Given the description of an element on the screen output the (x, y) to click on. 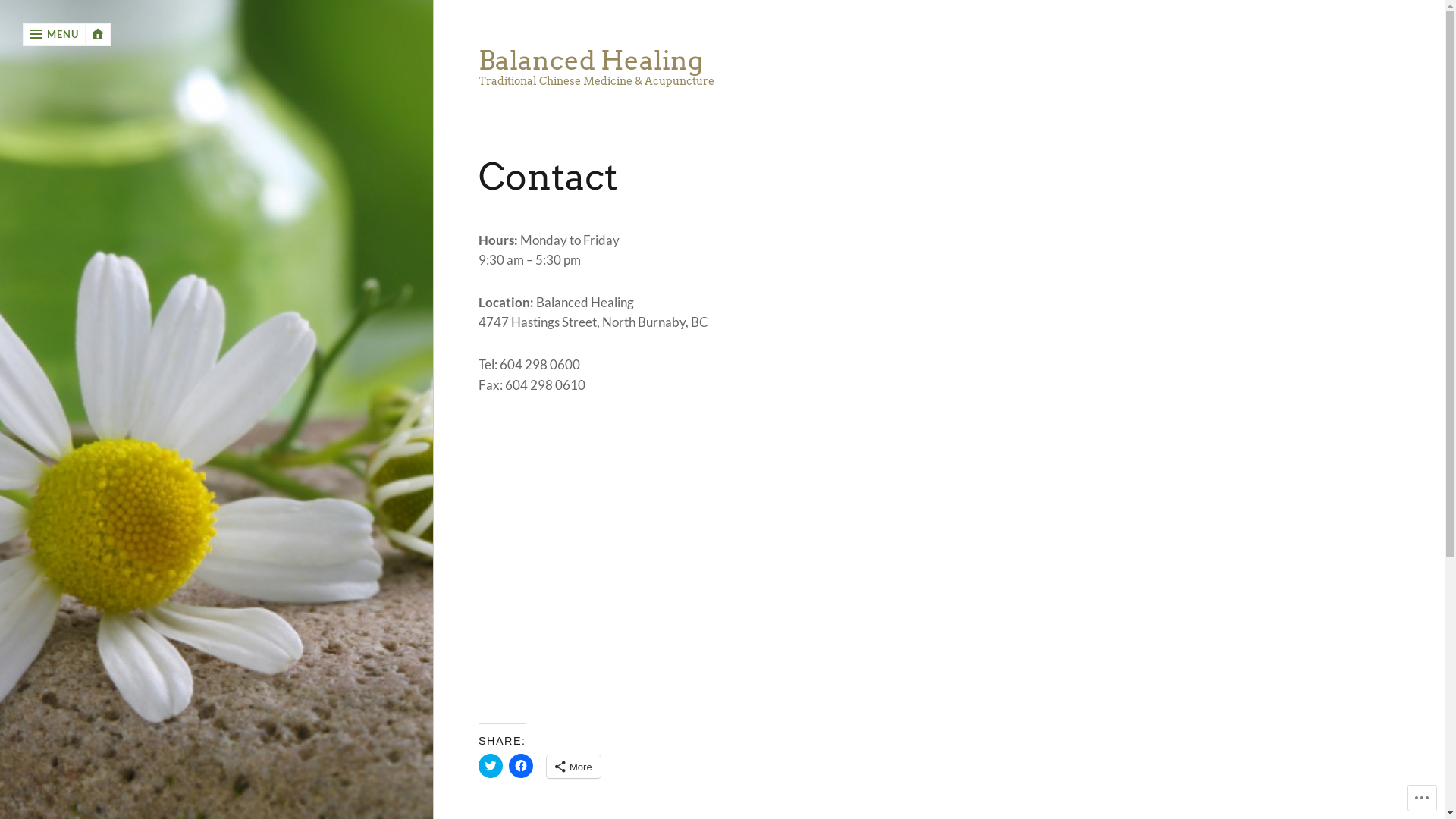
More Element type: text (573, 766)
Click to share on Twitter (Opens in new window) Element type: text (490, 765)
MENU Element type: text (53, 34)
Balanced Healing Element type: text (789, 60)
Click to share on Facebook (Opens in new window) Element type: text (520, 765)
